Given the description of an element on the screen output the (x, y) to click on. 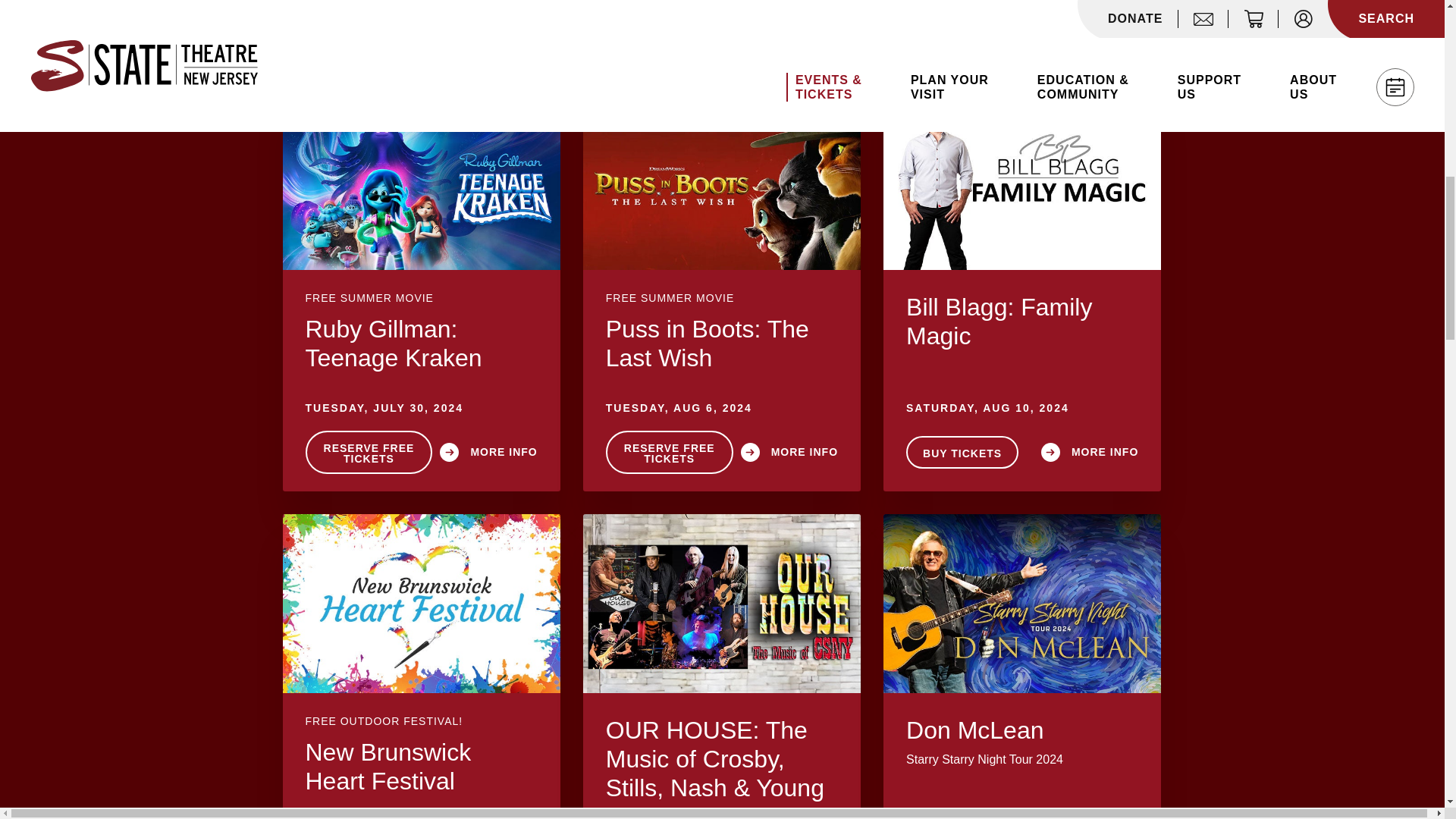
Salsa Night More Info (789, 28)
More Info (721, 343)
Buy Tickets for The Super Mario Bros. Movie  (368, 28)
Puss in Boots: The Last Wish More Info (789, 452)
More Info for Ruby Gillman: Teenage Kraken (420, 180)
Buy Tickets for Salsa Night  (661, 29)
Buy Tickets for Puss in Boots: The Last Wish  (669, 452)
Ruby Gillman: Teenage Kraken More Info (488, 452)
Baahubali: The Beginning Live in Concert More Info (954, 28)
More Info (420, 343)
More Info for Puss in Boots: The Last Wish (721, 180)
The Super Mario Bros. Movie More Info (488, 28)
Buy Tickets for Ruby Gillman: Teenage Kraken  (368, 452)
